Given the description of an element on the screen output the (x, y) to click on. 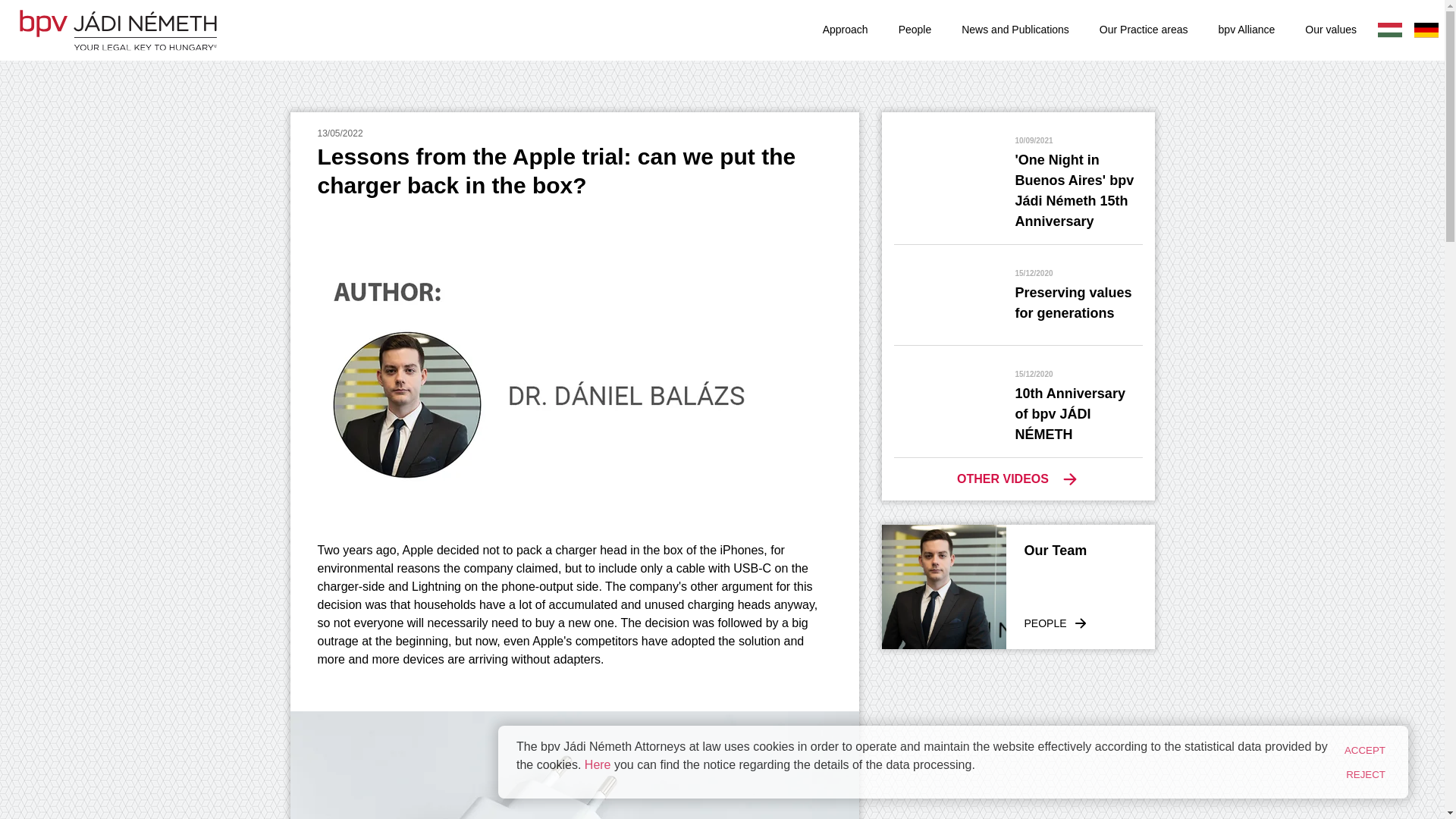
News and Publications (1014, 29)
Our values (1017, 586)
bpv Alliance (1330, 29)
ACCEPT (1246, 29)
OTHER VIDEOS (1364, 749)
Here (1017, 478)
Our Practice areas  (598, 764)
People  (1143, 29)
Our values (914, 29)
News and Publications (1330, 29)
Our Practice areas (1014, 29)
Approach (1143, 29)
bpv Alliance (844, 29)
People (1246, 29)
